Given the description of an element on the screen output the (x, y) to click on. 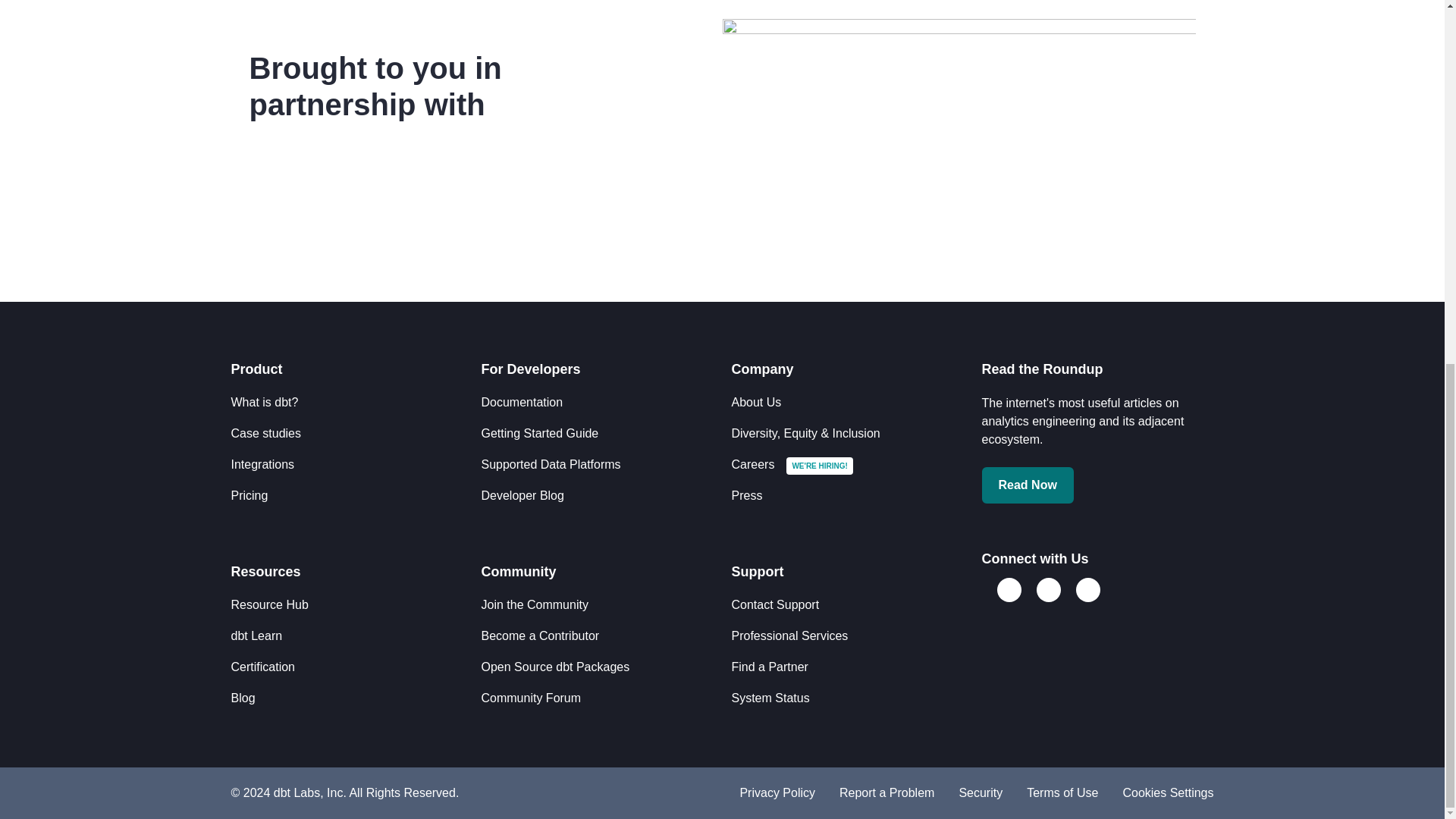
Certification (262, 666)
Brought to you in partnership with (448, 85)
dbt Learn (256, 635)
Documentation (521, 401)
System Status (769, 697)
Join the Community (534, 604)
Supported Data Platforms (550, 463)
Developer Blog (521, 495)
Professional Services (788, 635)
What is dbt? (264, 401)
